Given the description of an element on the screen output the (x, y) to click on. 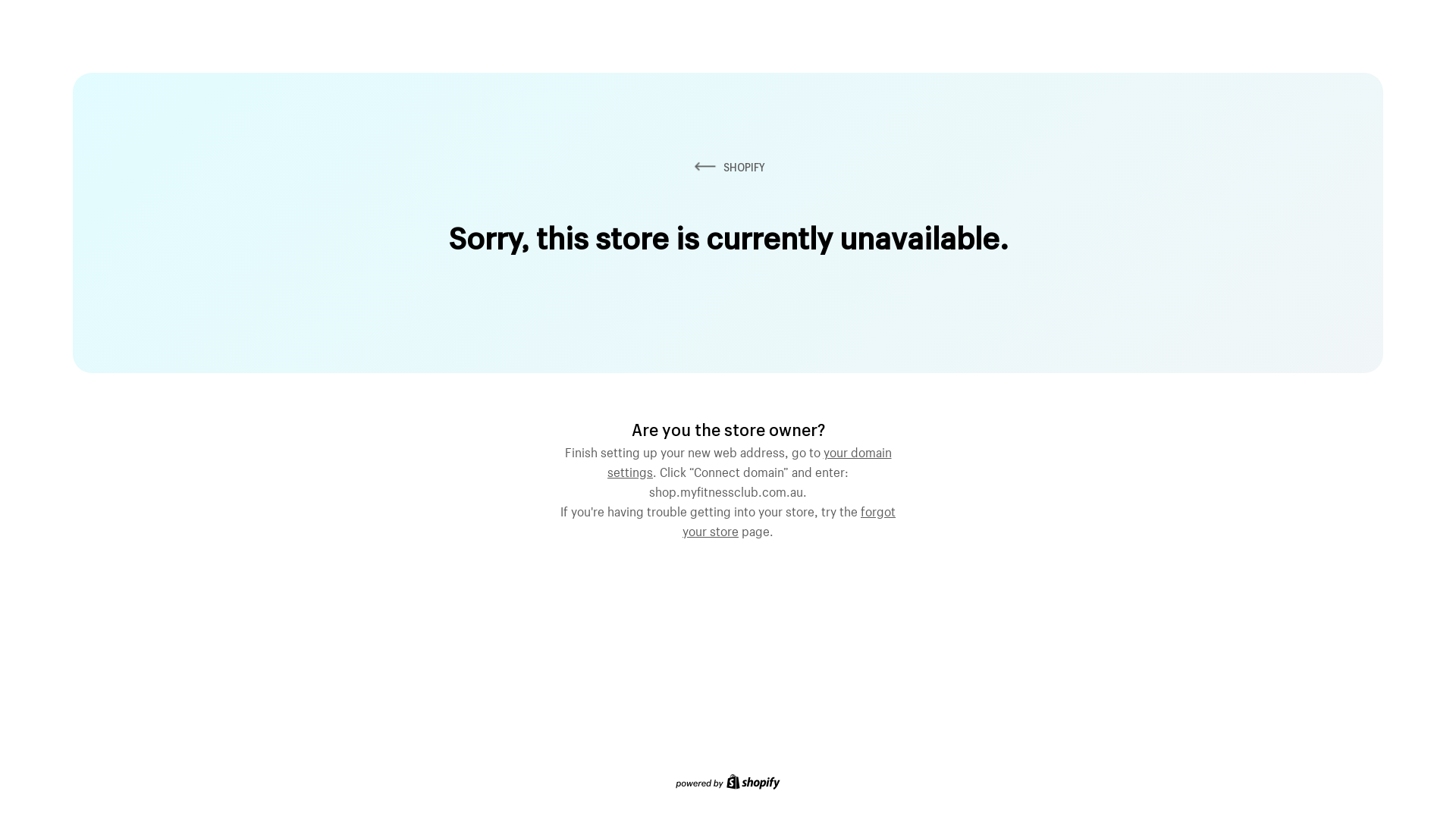
your domain settings Element type: text (749, 460)
forgot your store Element type: text (788, 519)
SHOPIFY Element type: text (727, 167)
